Given the description of an element on the screen output the (x, y) to click on. 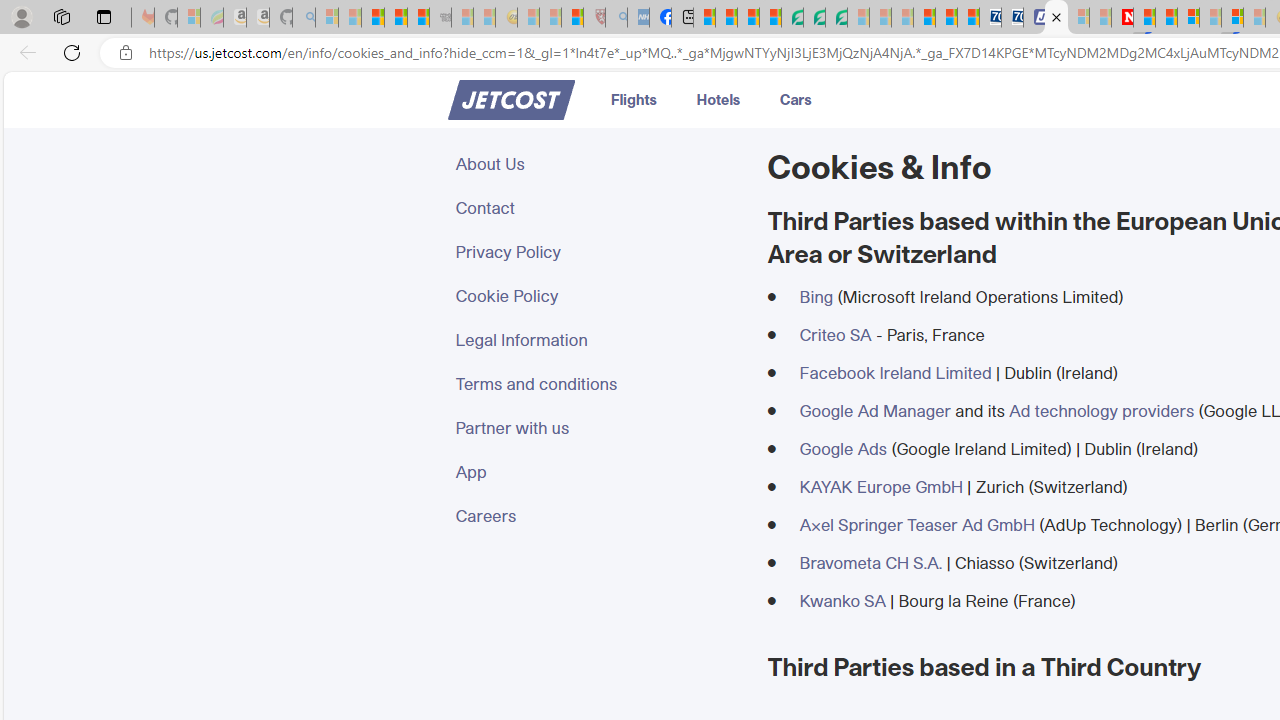
Facebook Ireland Limited (895, 372)
Legal Information (599, 339)
KAYAK Europe GmbH (880, 486)
Terms and conditions (599, 383)
